Given the description of an element on the screen output the (x, y) to click on. 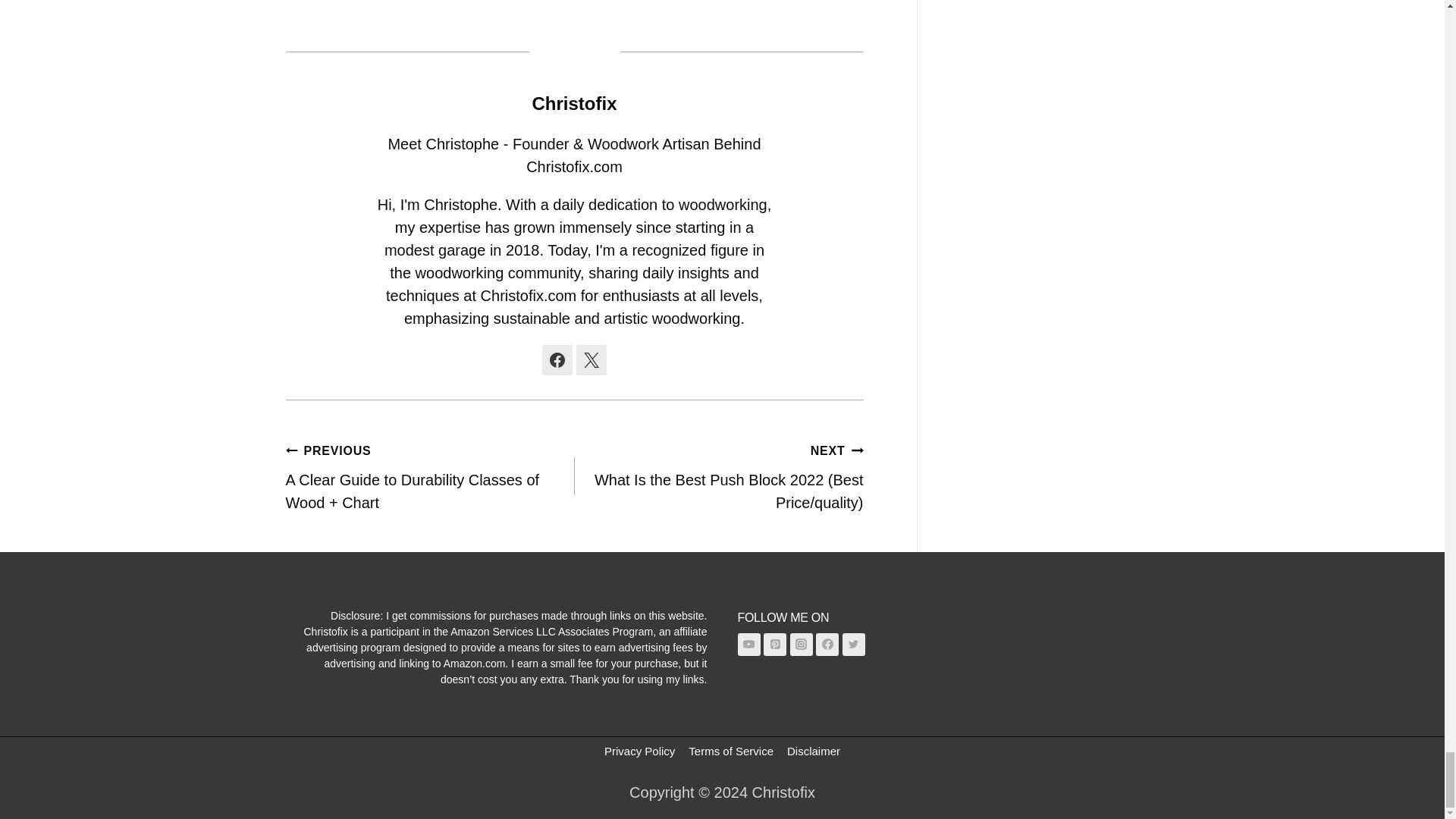
Follow Christofix on Facebook (556, 359)
Follow Christofix on X formerly Twitter (591, 359)
Posts by Christofix (573, 103)
